Given the description of an element on the screen output the (x, y) to click on. 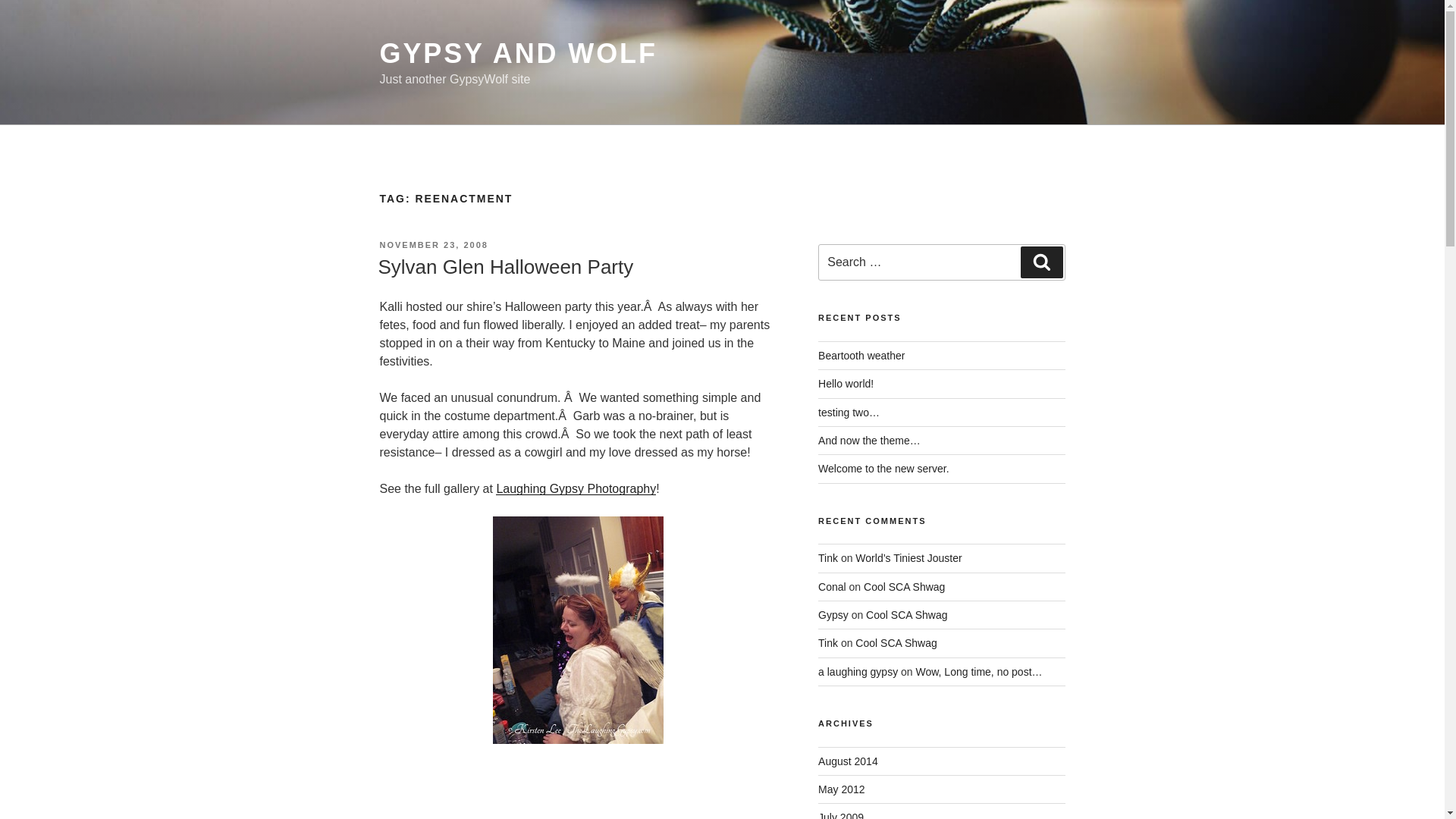
May 2012 (841, 788)
Conal (831, 586)
Search (1041, 262)
Beartooth weather (861, 355)
August 2014 (847, 761)
Welcome to the new server. (883, 468)
Laughing Gypsy Photography (576, 488)
Hello world! (845, 383)
Cool SCA Shwag (906, 614)
a laughing gypsy (858, 671)
